Given the description of an element on the screen output the (x, y) to click on. 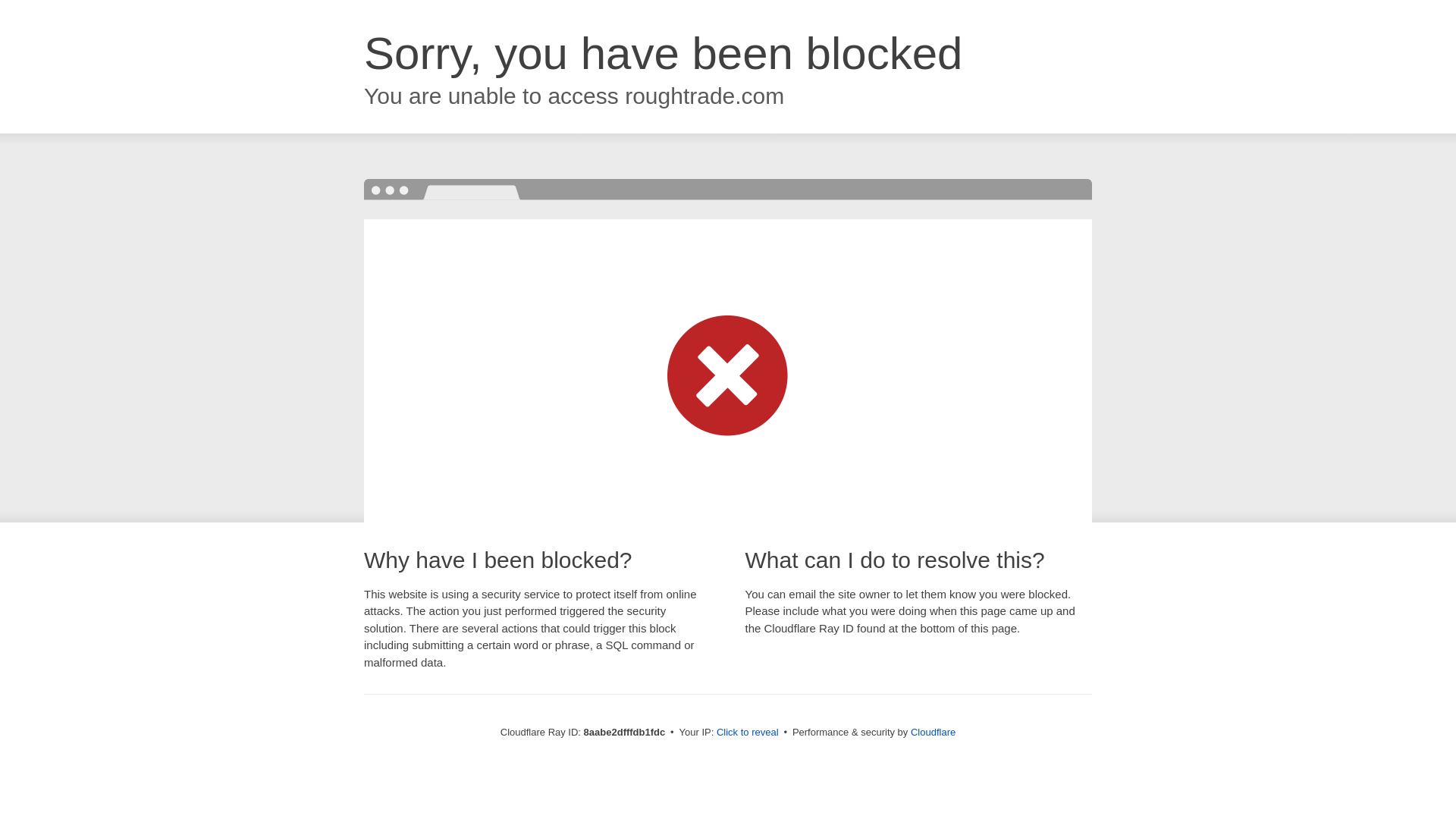
Click to reveal (747, 732)
Cloudflare (933, 731)
